Given the description of an element on the screen output the (x, y) to click on. 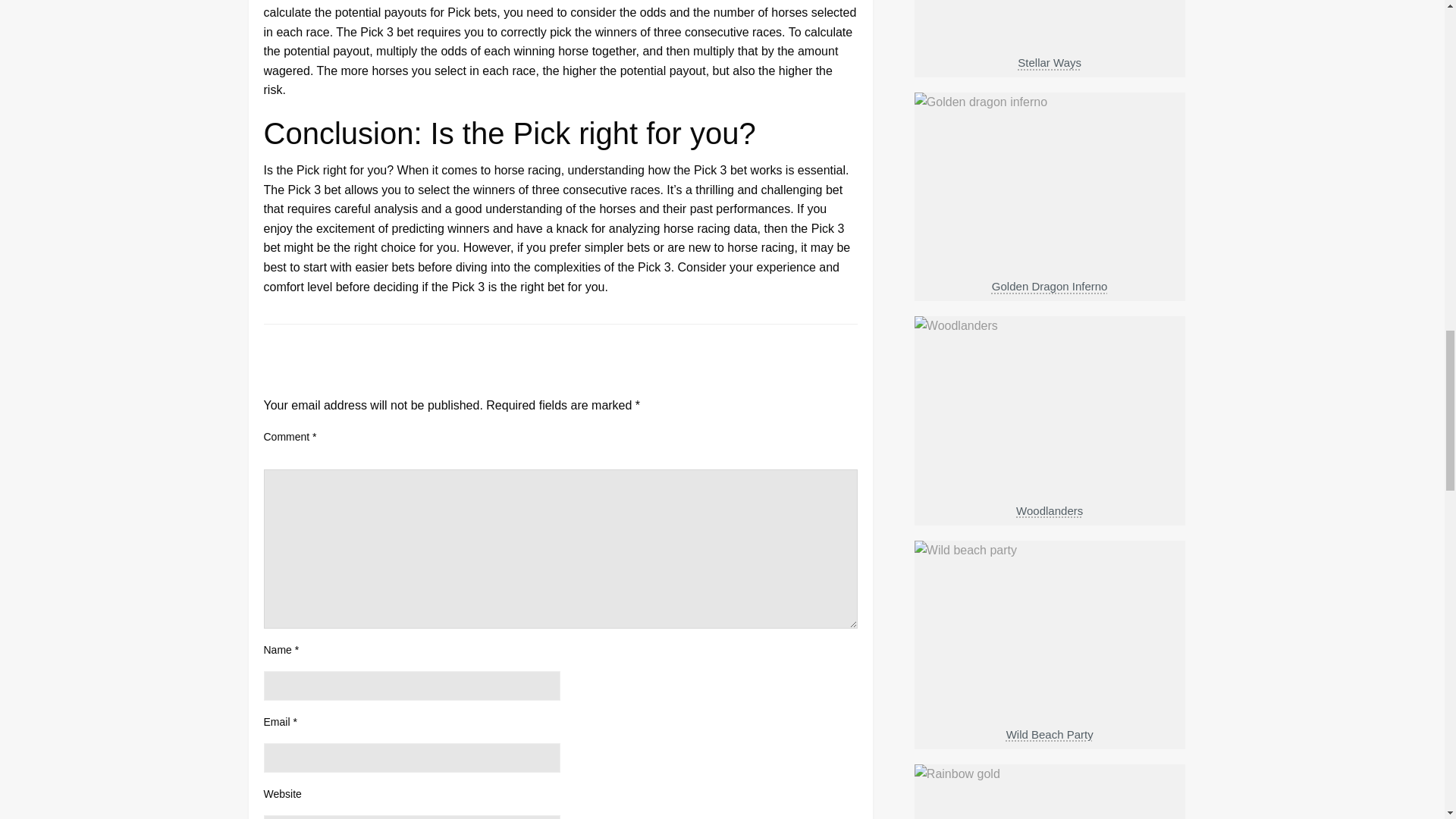
Woodlanders (1049, 461)
Stellar ways (1049, 38)
Golden dragon inferno (1049, 238)
Wild beach party (1049, 685)
